Given the description of an element on the screen output the (x, y) to click on. 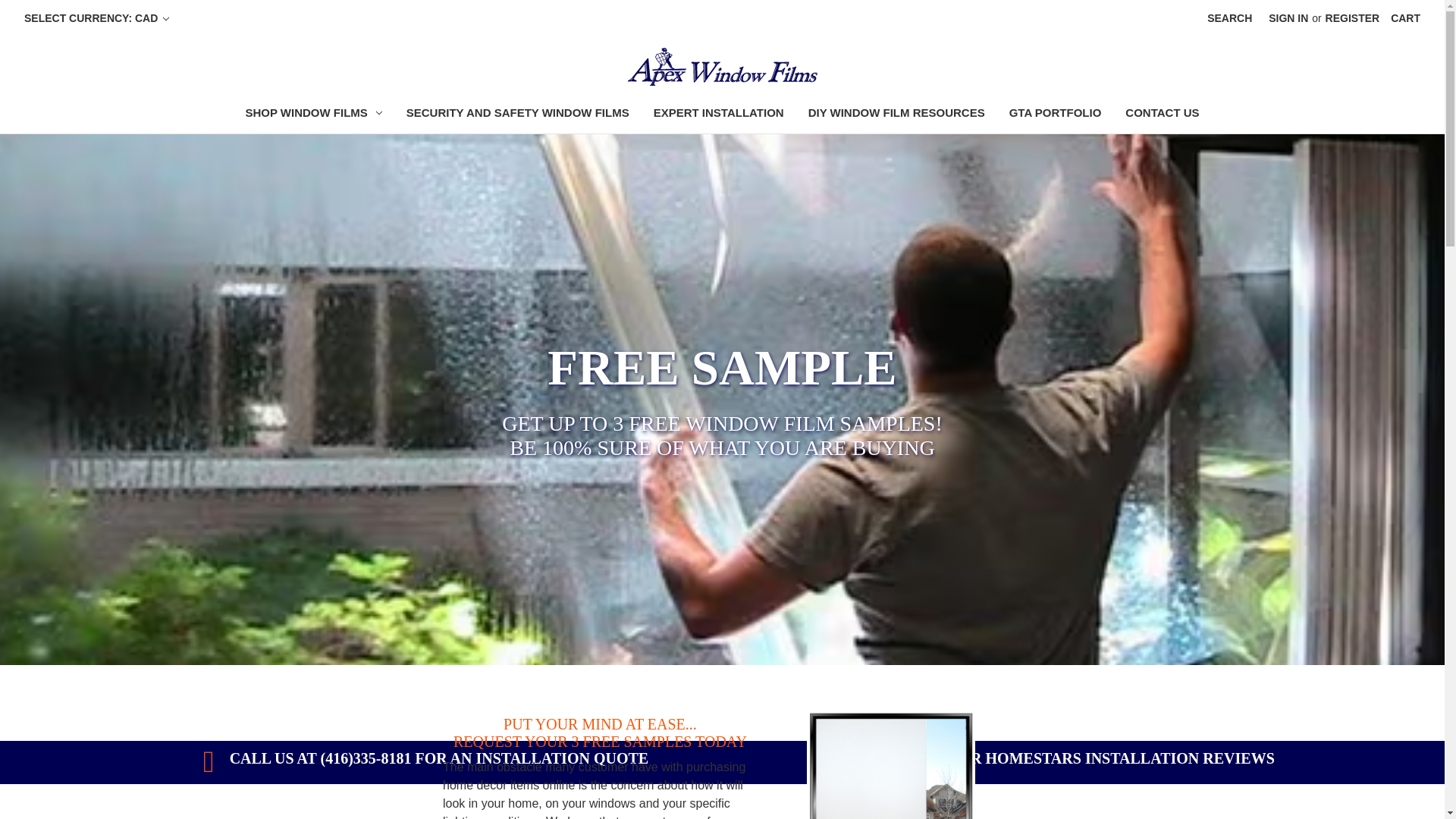
SIGN IN (1288, 18)
CART (1404, 18)
SELECT CURRENCY: CAD (96, 18)
Apex Window Films (721, 66)
SHOP WINDOW FILMS (312, 114)
REGISTER (1353, 18)
SEARCH (1229, 18)
